Given the description of an element on the screen output the (x, y) to click on. 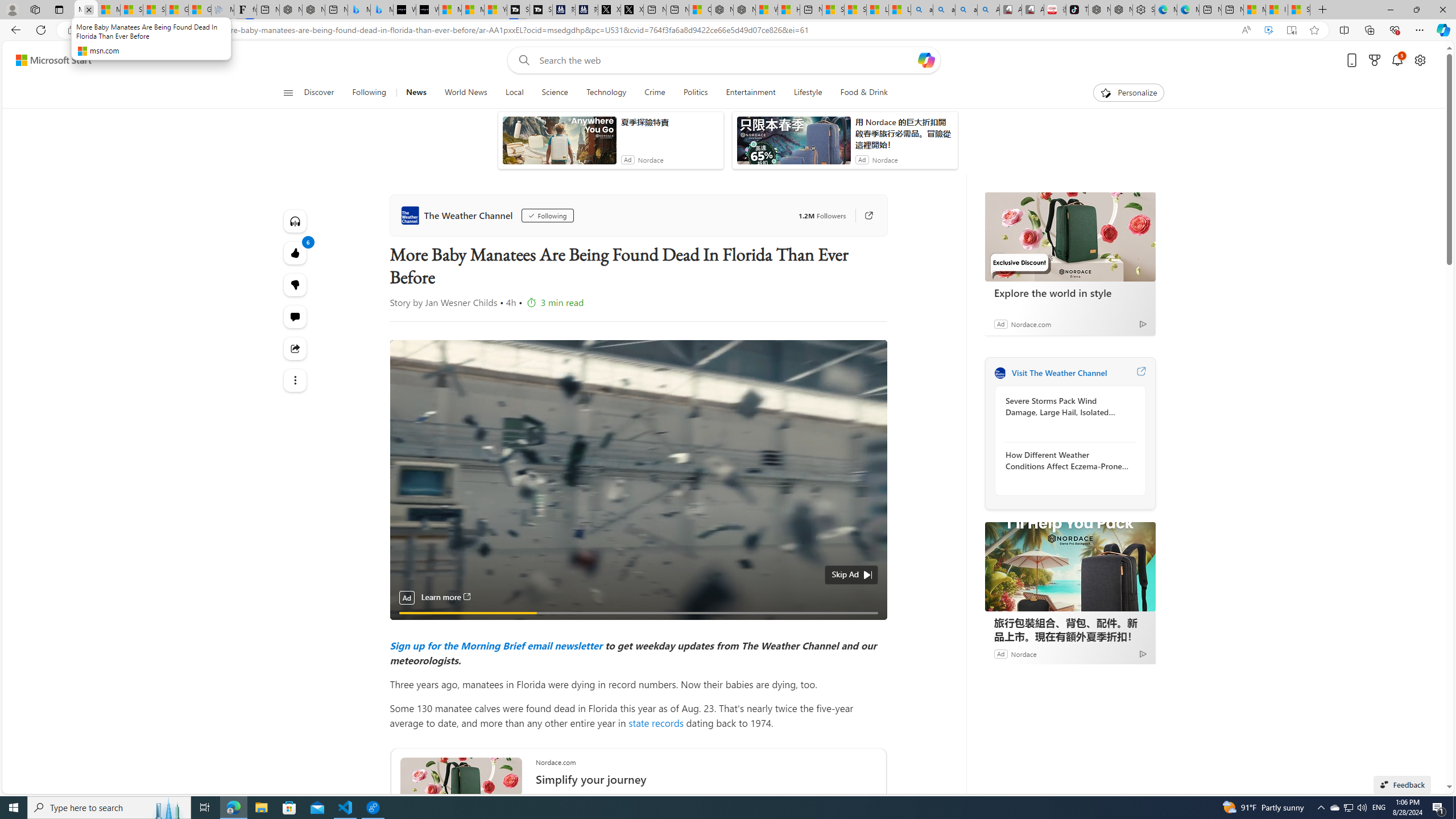
Local (514, 92)
Personalize (1128, 92)
Listen to this article (295, 221)
Open navigation menu (287, 92)
Start the conversation (295, 316)
Huge shark washes ashore at New York City beach | Watch (789, 9)
Technology (606, 92)
video progress bar (637, 612)
